Given the description of an element on the screen output the (x, y) to click on. 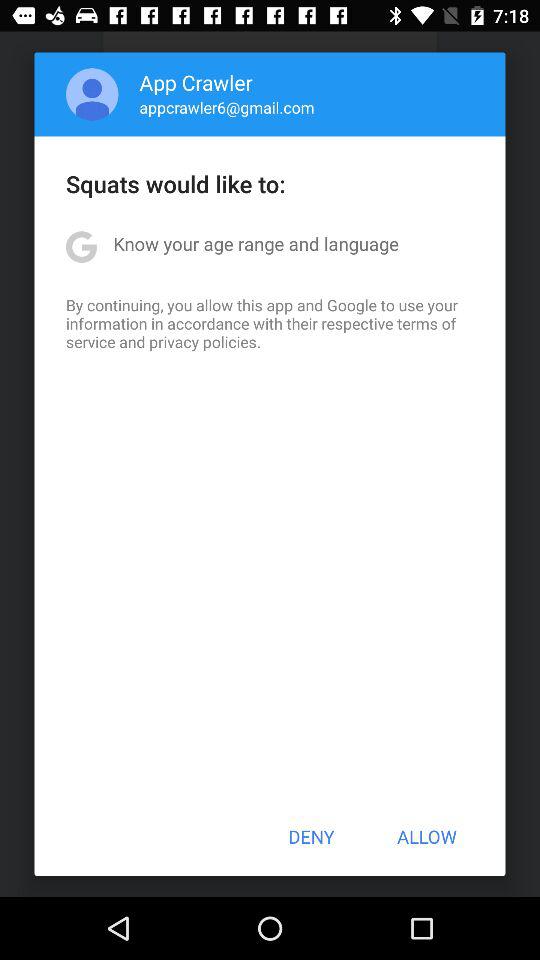
turn on icon above the squats would like (92, 94)
